Given the description of an element on the screen output the (x, y) to click on. 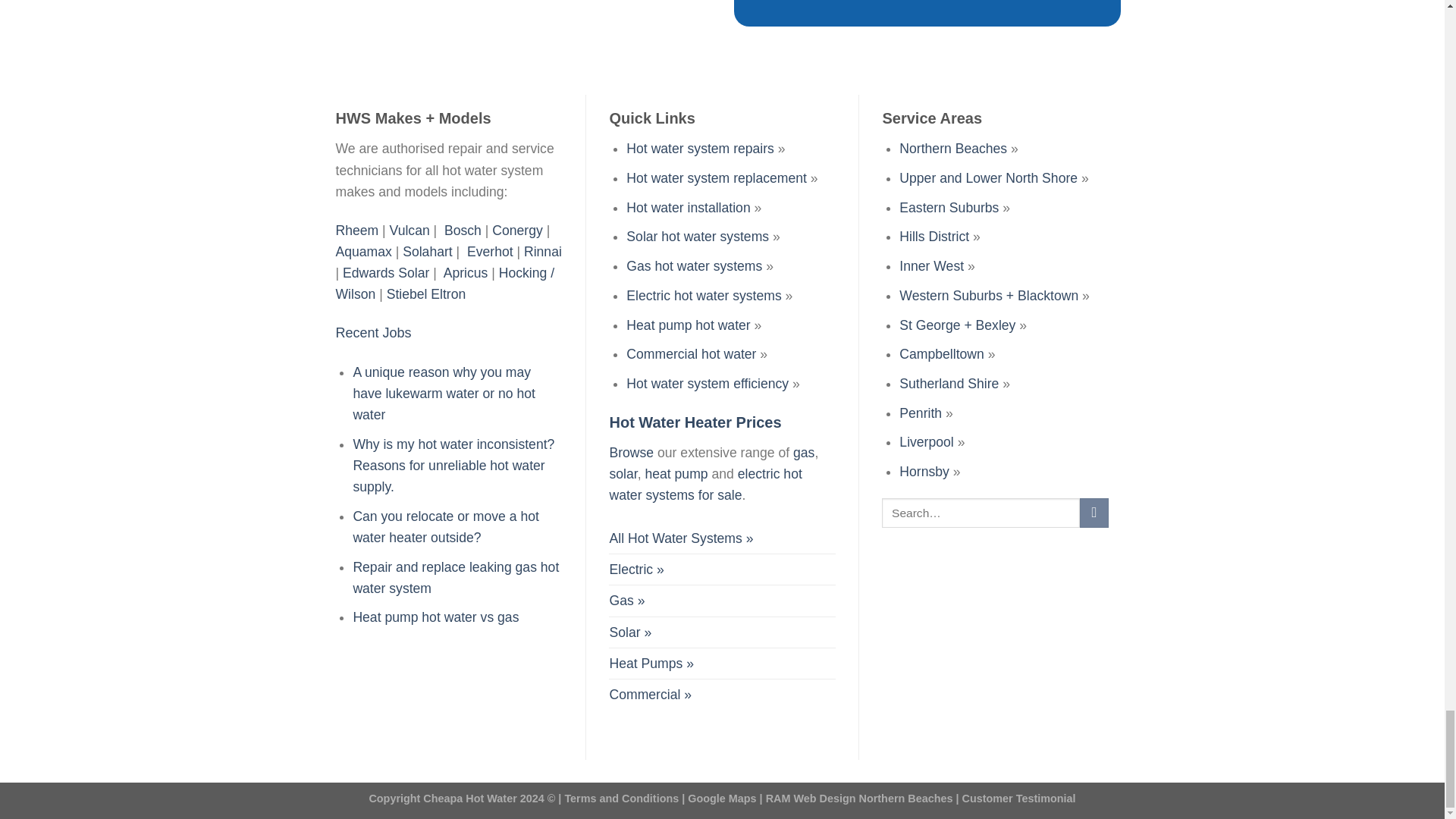
buy solar hot water system (629, 632)
buy gas hot water system (626, 600)
buy electric hot water system (635, 569)
